Given the description of an element on the screen output the (x, y) to click on. 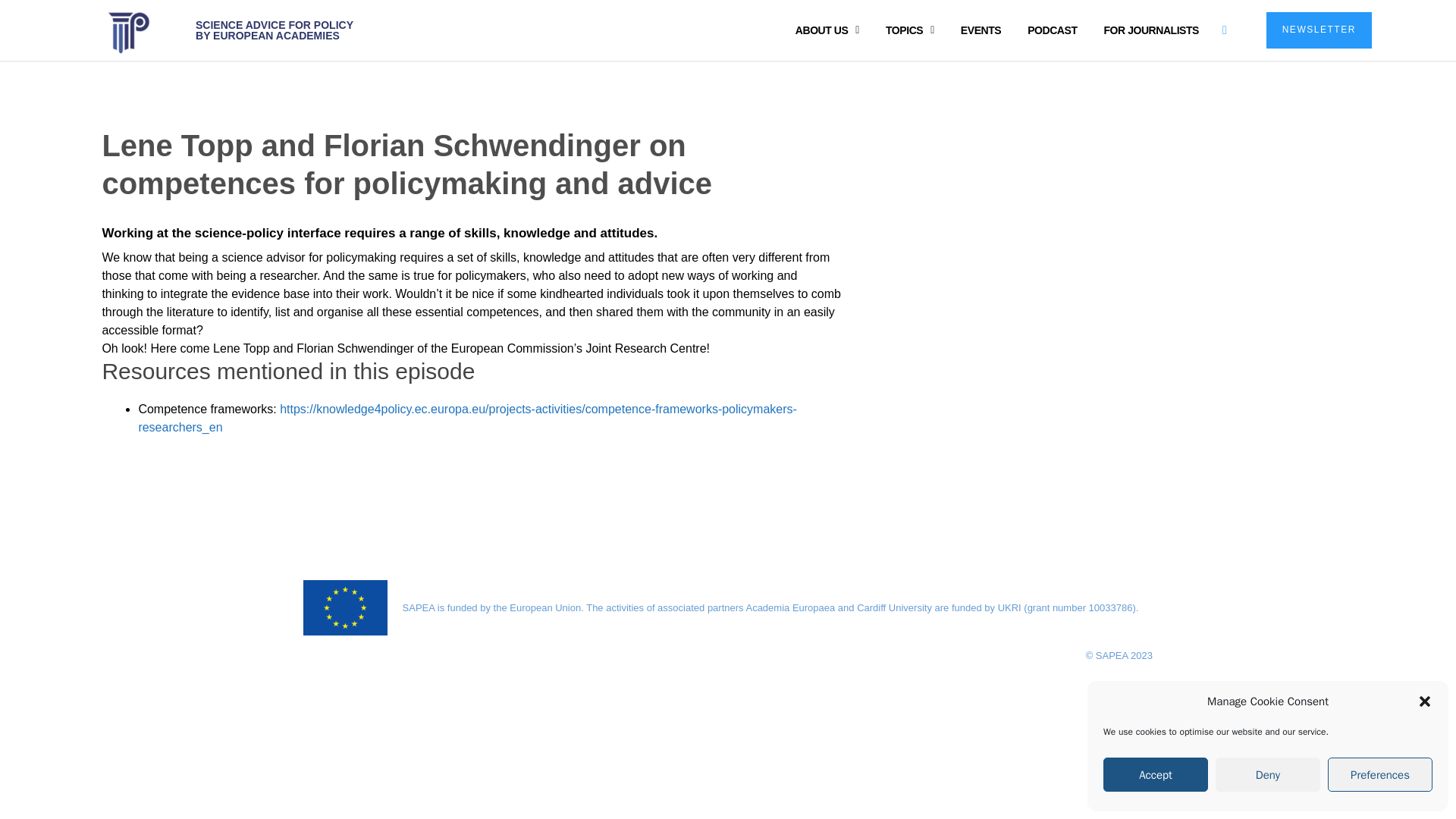
EVENTS (981, 30)
FOR JOURNALISTS (1151, 30)
ABOUT US (826, 30)
PODCAST (1052, 30)
TOPICS (909, 30)
